Given the description of an element on the screen output the (x, y) to click on. 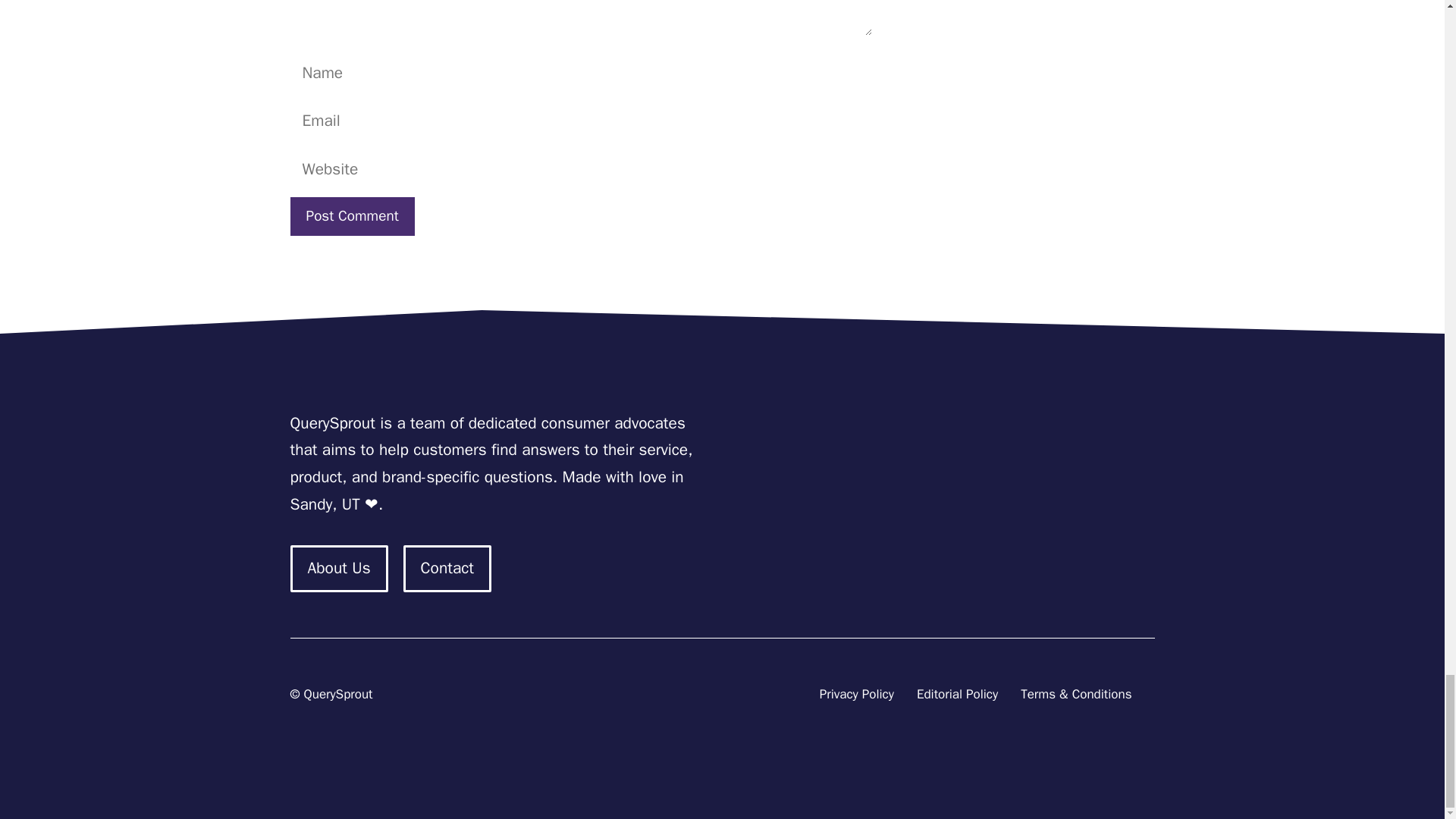
Post Comment (351, 216)
About Us (338, 568)
Editorial Policy (957, 694)
Privacy Policy (856, 694)
Contact (447, 568)
Post Comment (351, 216)
